Given the description of an element on the screen output the (x, y) to click on. 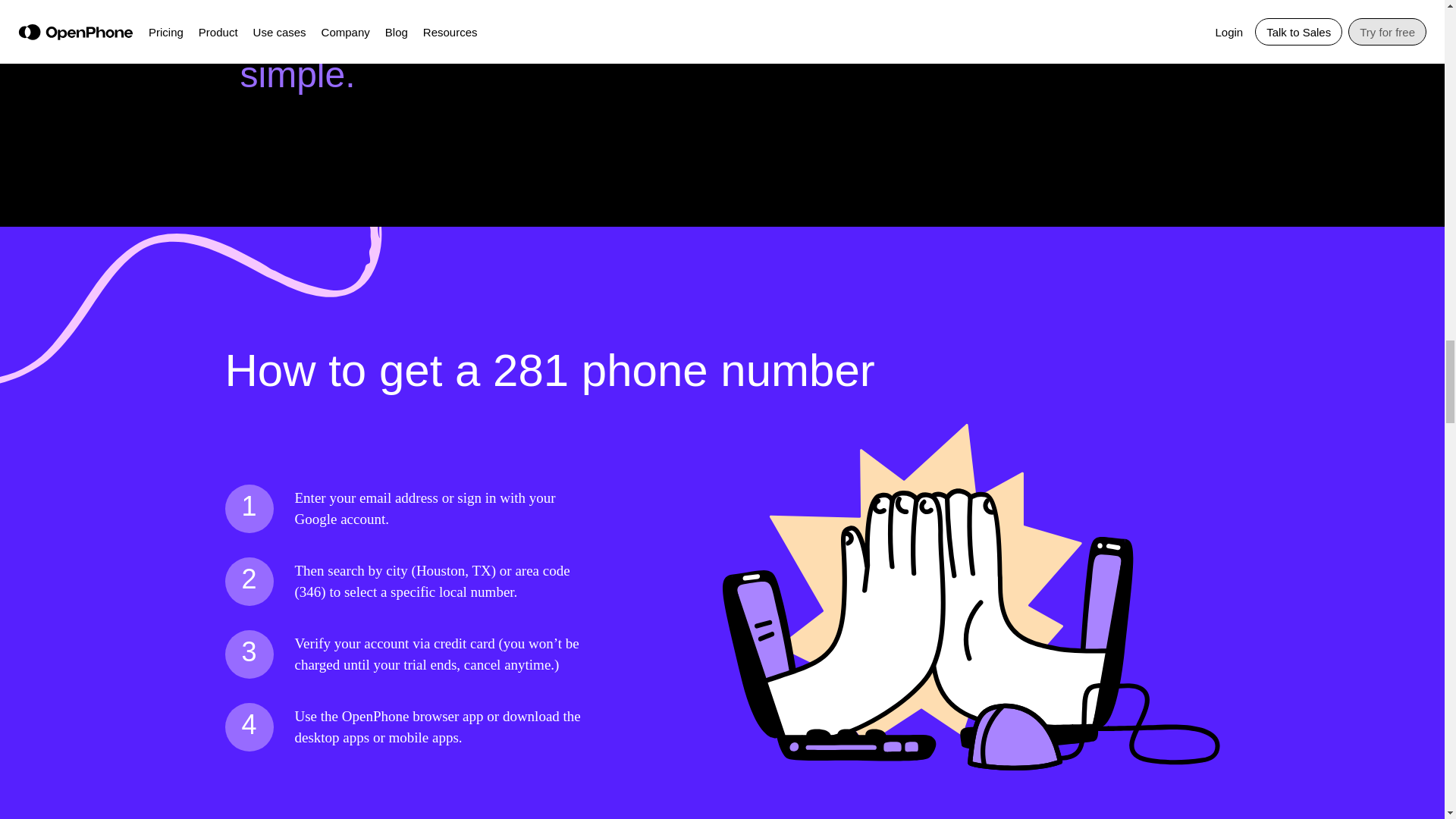
Easily download and install our app (912, 25)
